Given the description of an element on the screen output the (x, y) to click on. 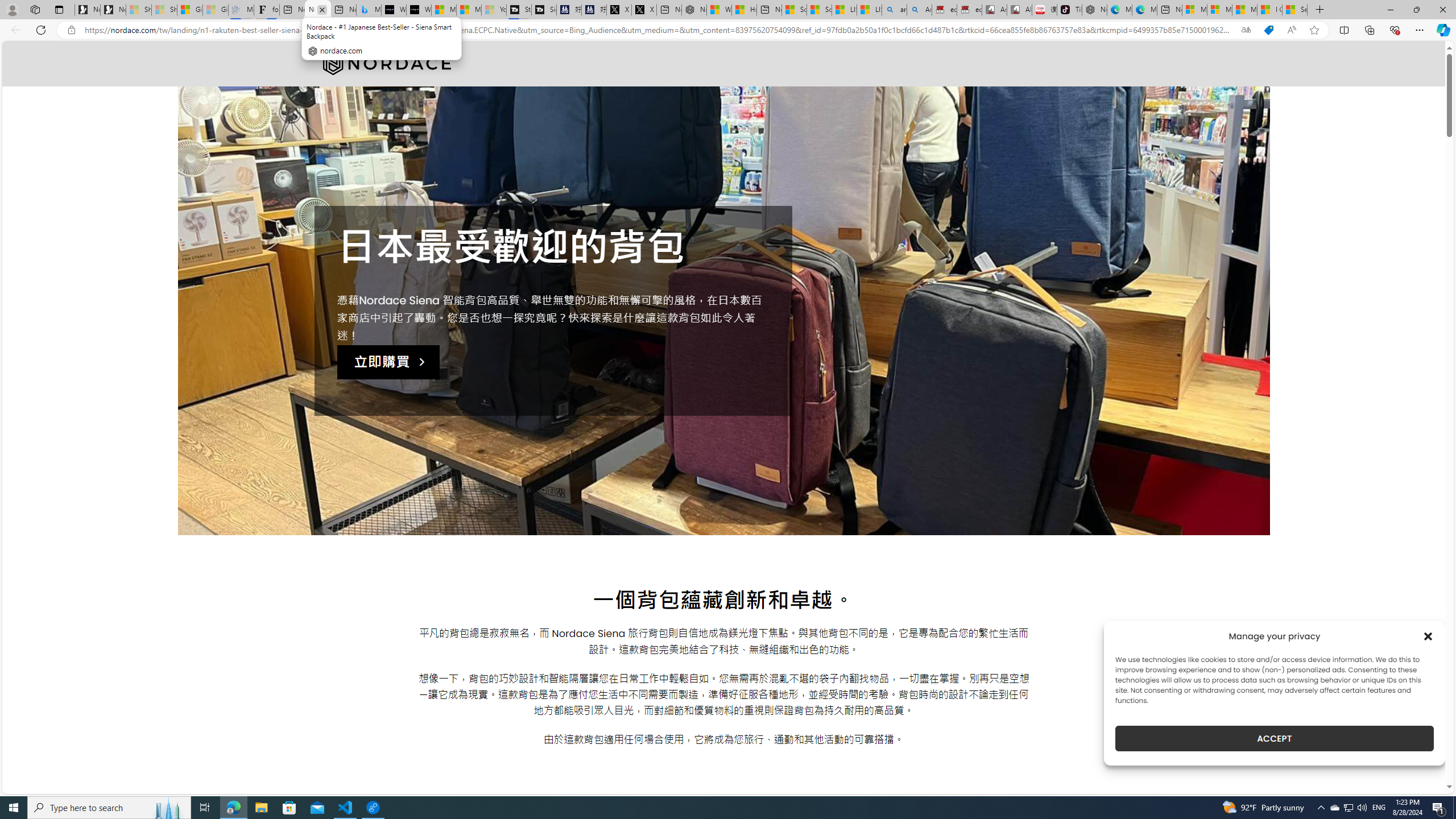
Nordace - My Account (694, 9)
This site has coupons! Shopping in Microsoft Edge (1268, 29)
